Given the description of an element on the screen output the (x, y) to click on. 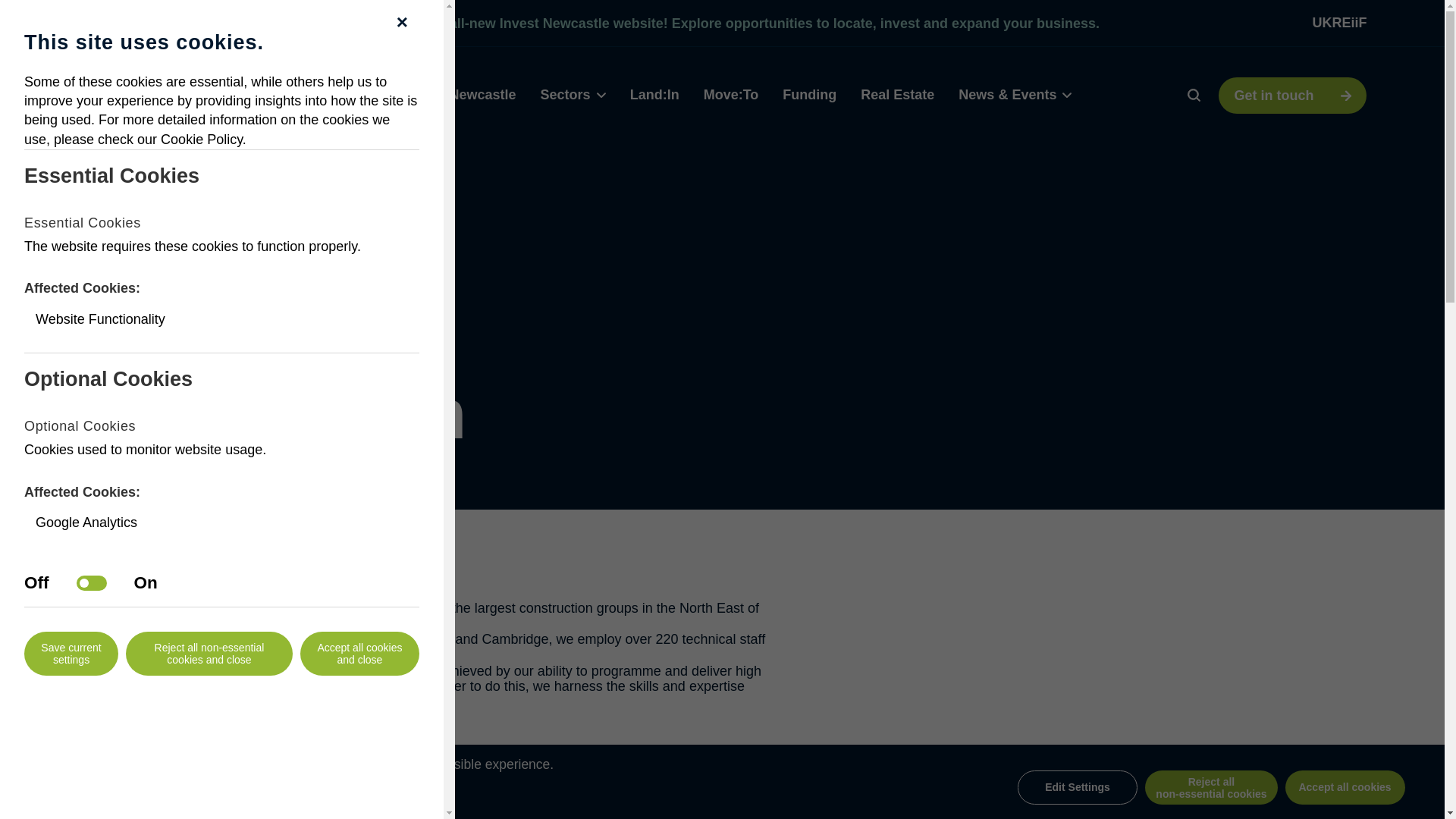
Sectors (572, 94)
Funding (809, 94)
Search this site (1193, 94)
About (373, 94)
Move:To (730, 94)
Get in touch with the team at Invest Newcastle (1292, 94)
Why Newcastle (466, 94)
Sectors (572, 94)
Real Estate (897, 94)
Land:In (654, 94)
Return to the Invest Newcastle homepage (162, 95)
Move:To (730, 94)
About (373, 94)
Funding (809, 94)
UKREiiF (1340, 22)
